Given the description of an element on the screen output the (x, y) to click on. 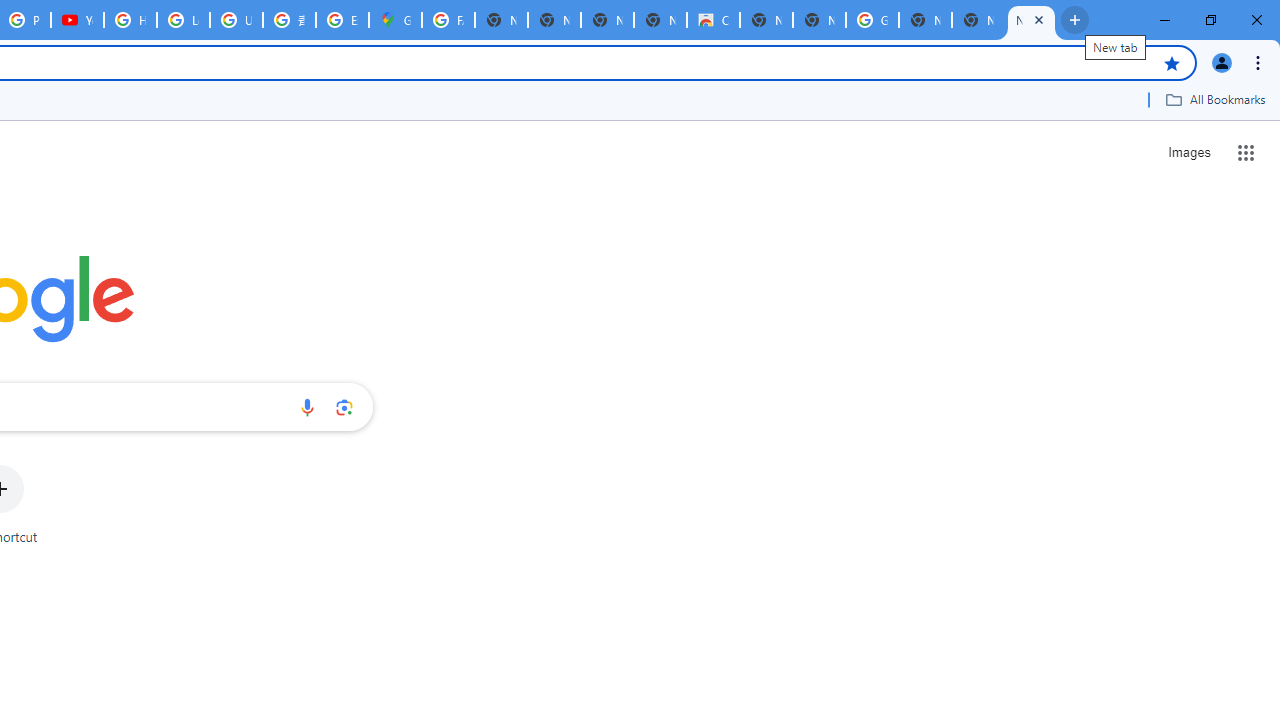
Google Images (872, 20)
New Tab (1031, 20)
Chrome Web Store (713, 20)
Chrome (1260, 62)
New Tab (925, 20)
How Chrome protects your passwords - Google Chrome Help (130, 20)
Search by image (344, 407)
Explore new street-level details - Google Maps Help (342, 20)
You (1221, 62)
YouTube (77, 20)
All Bookmarks (1215, 99)
Google Maps (395, 20)
Minimize (1165, 20)
